Given the description of an element on the screen output the (x, y) to click on. 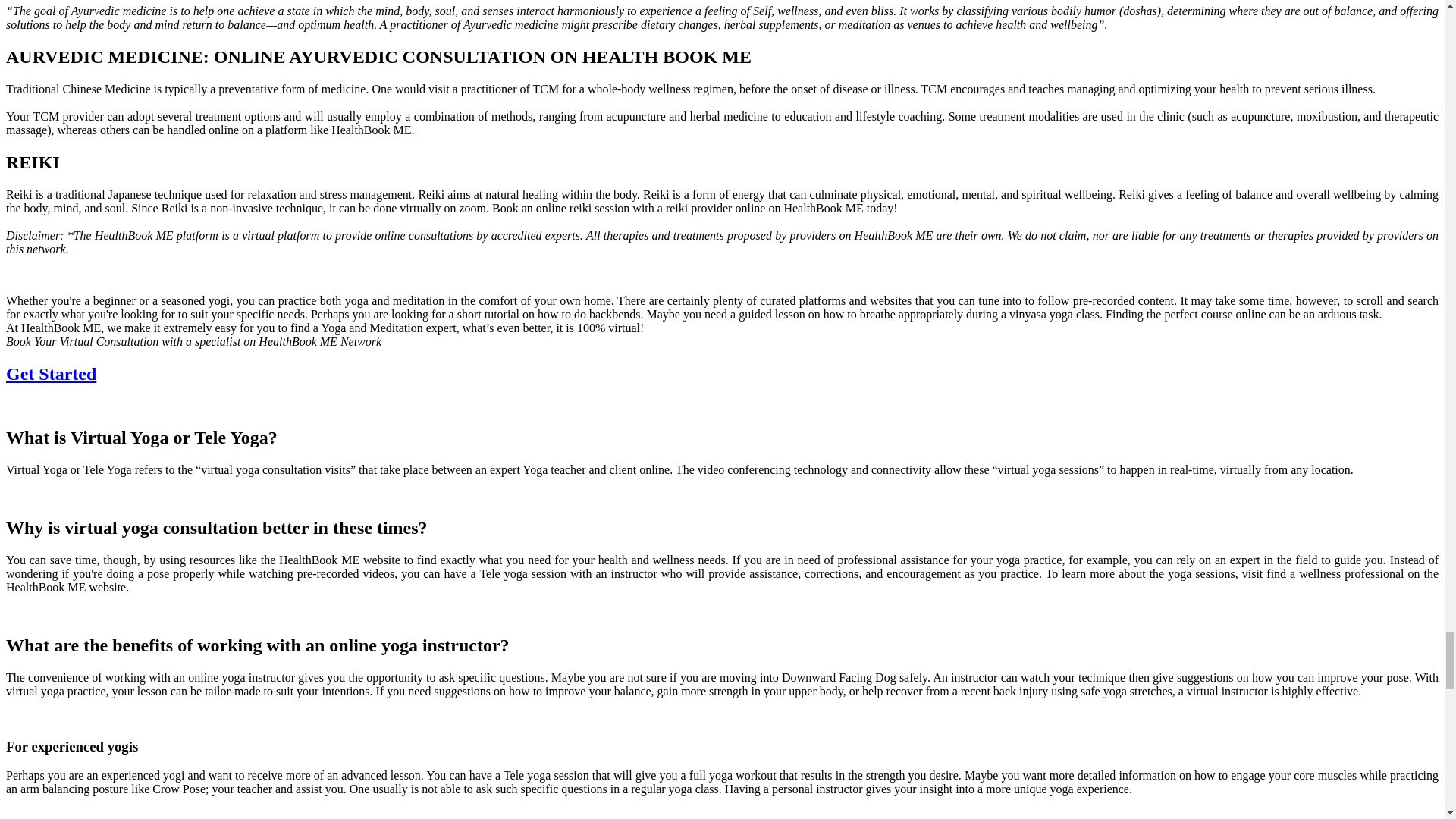
Get Started (50, 373)
